Given the description of an element on the screen output the (x, y) to click on. 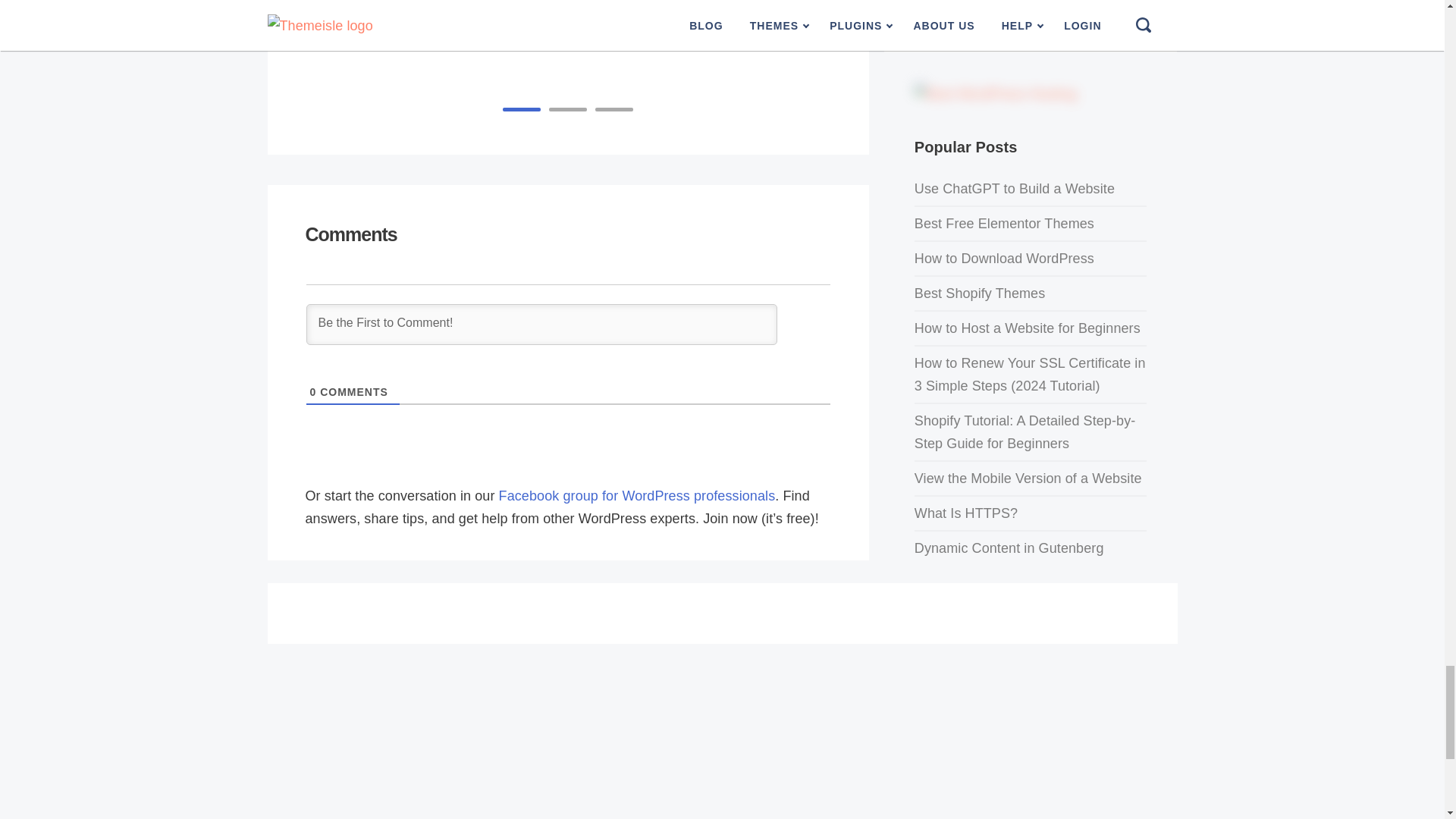
0 (311, 391)
